Given the description of an element on the screen output the (x, y) to click on. 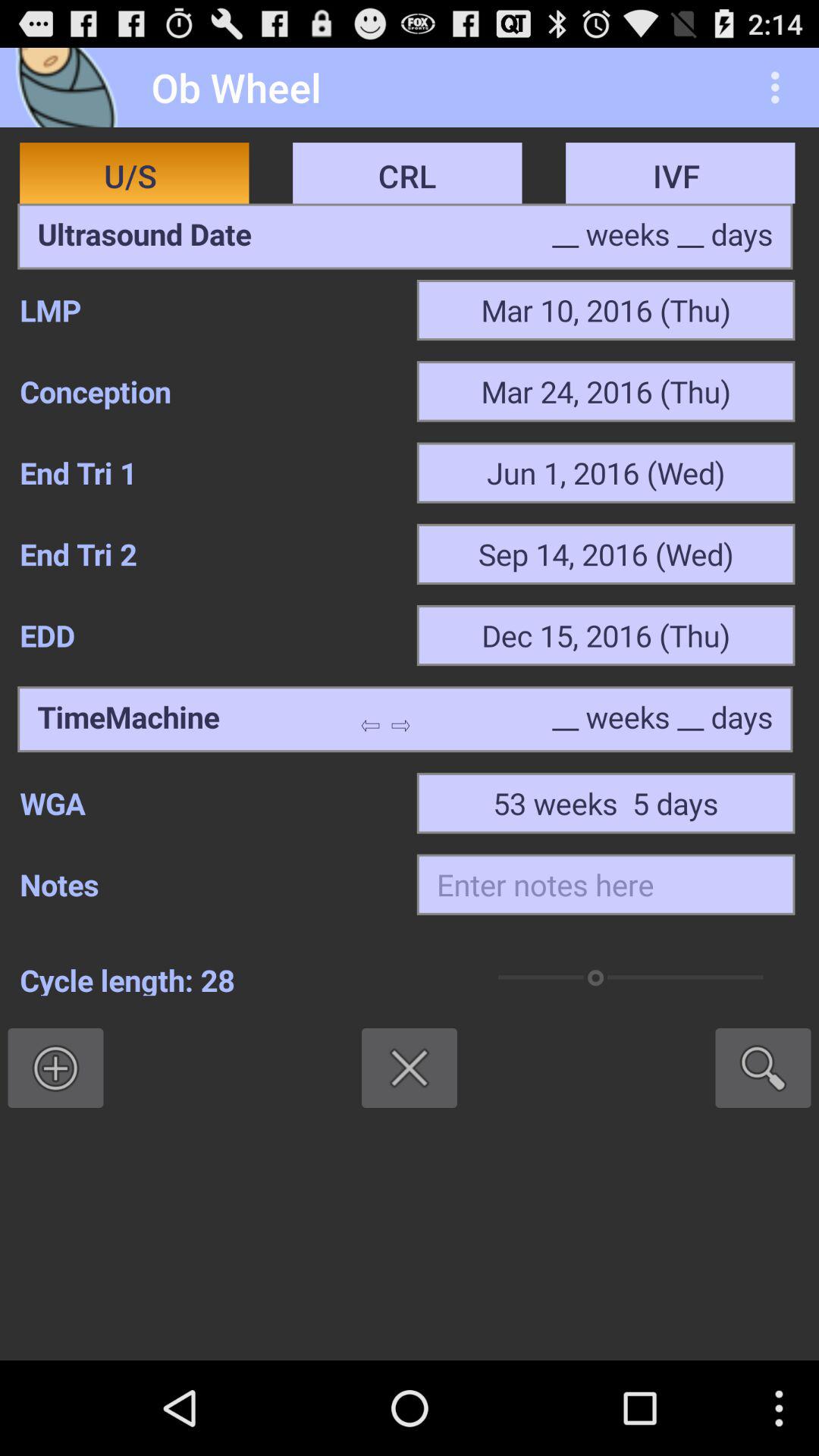
open app next to the ob wheel item (71, 87)
